Given the description of an element on the screen output the (x, y) to click on. 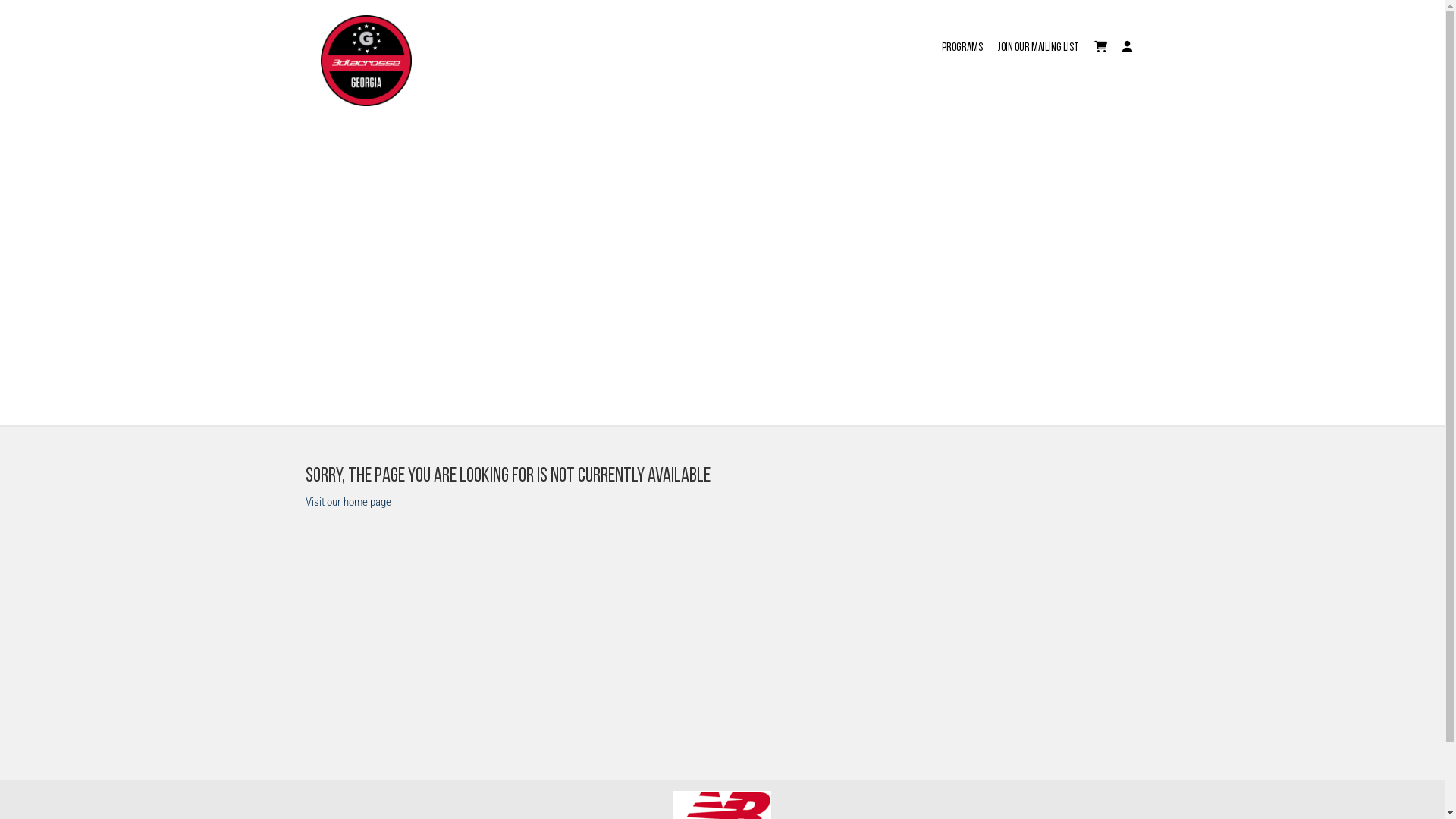
JOIN OUR MAILING LIST Element type: text (1038, 38)
Visit our home page Element type: text (347, 501)
Programs Element type: text (962, 38)
